Given the description of an element on the screen output the (x, y) to click on. 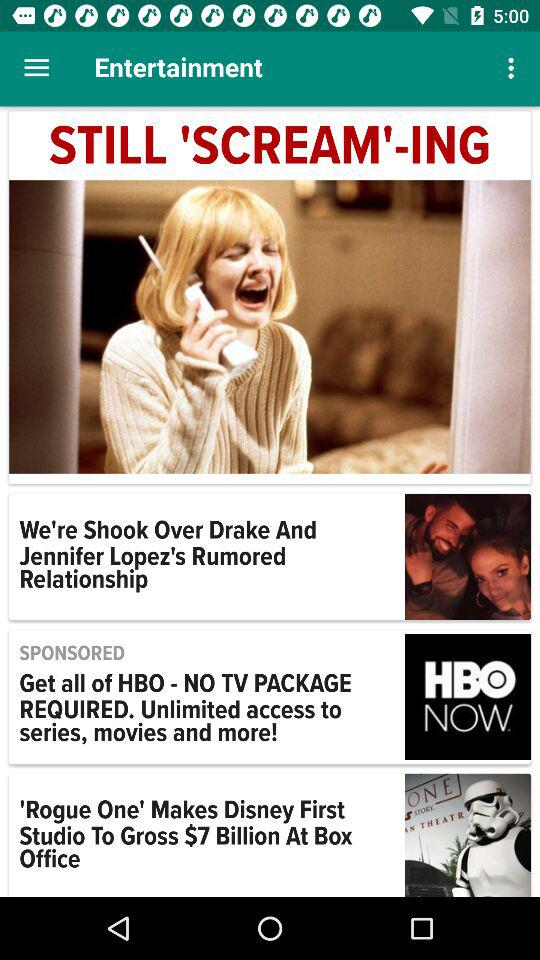
turn on icon next to entertainment item (36, 68)
